Given the description of an element on the screen output the (x, y) to click on. 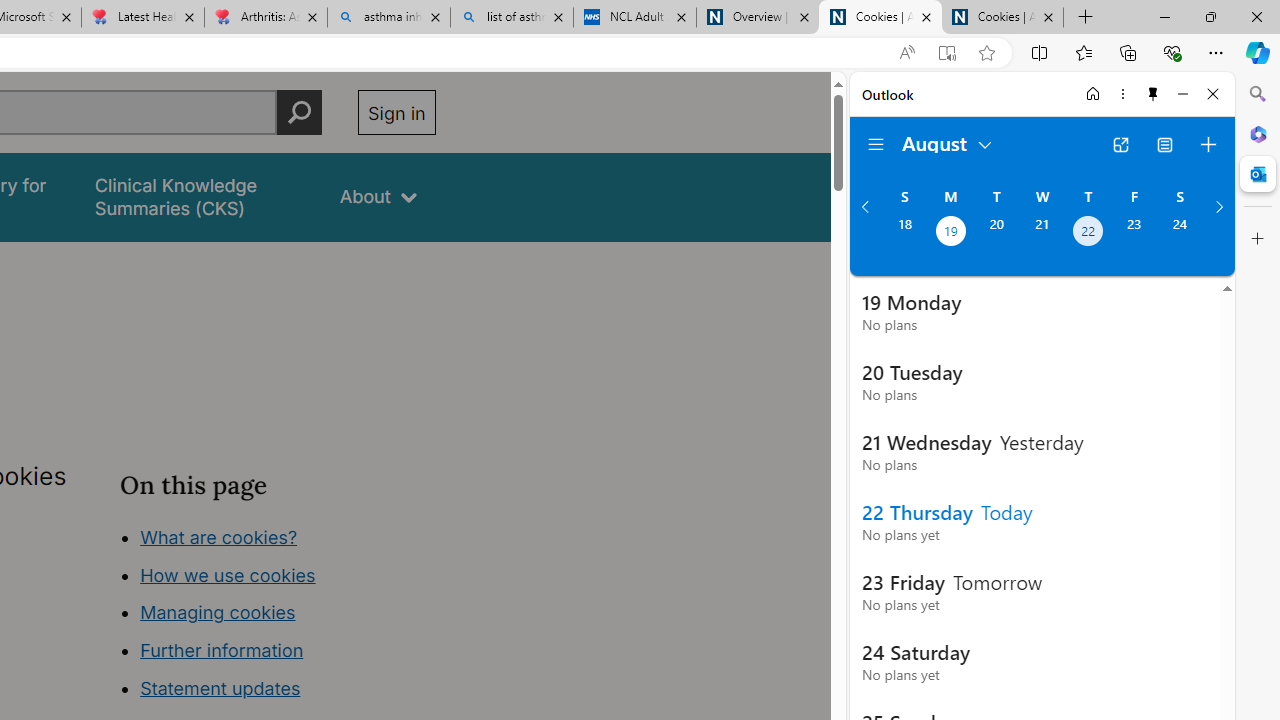
Sign in (396, 112)
Monday, August 19, 2024. Date selected.  (950, 233)
Create event (1208, 144)
Cookies | About | NICE (1002, 17)
About (378, 196)
Tuesday, August 20, 2024.  (996, 233)
